Given the description of an element on the screen output the (x, y) to click on. 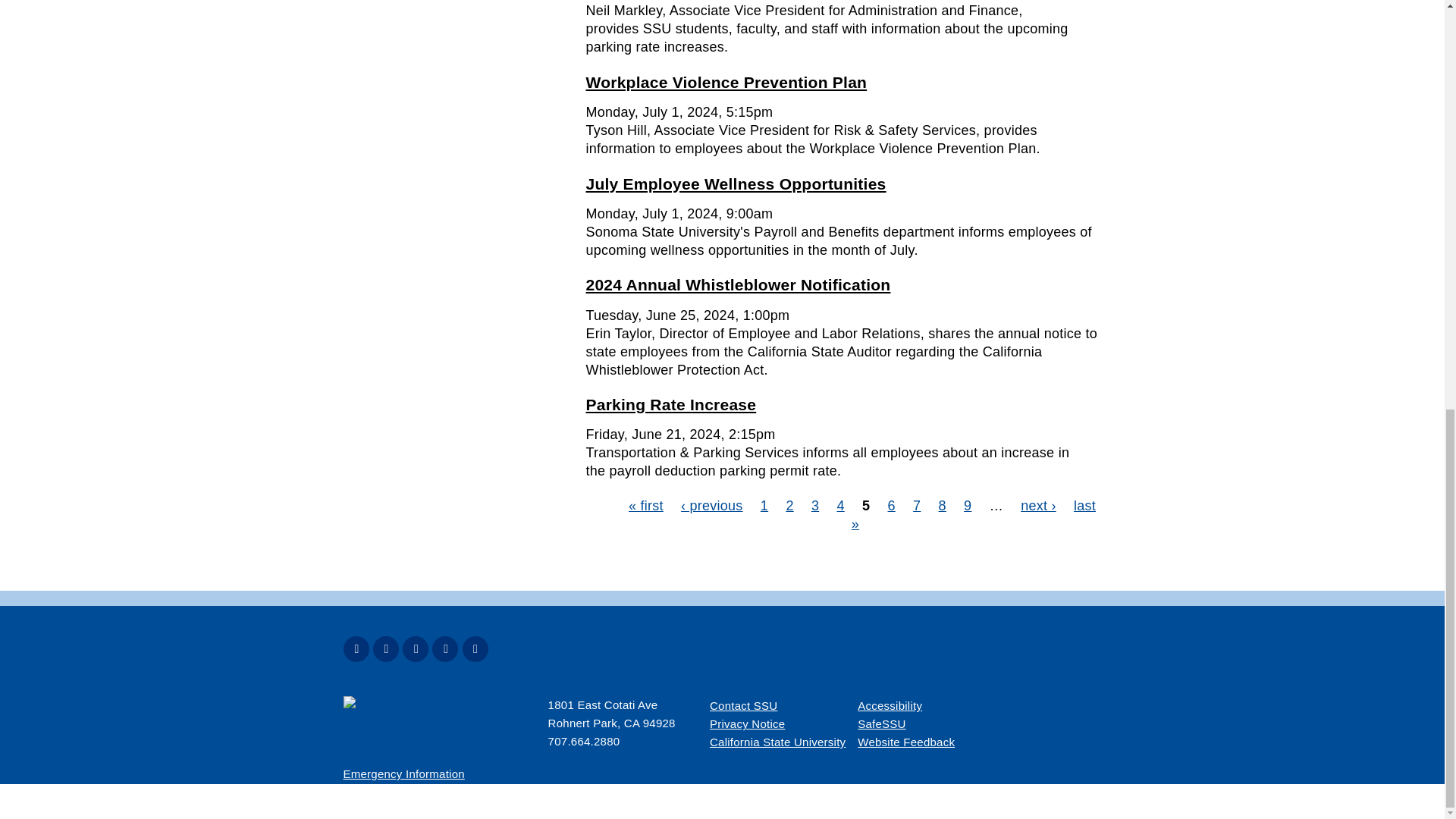
Go to previous page (711, 505)
Go to first page (645, 505)
Go to next page (1038, 505)
Go to last page (973, 514)
